Given the description of an element on the screen output the (x, y) to click on. 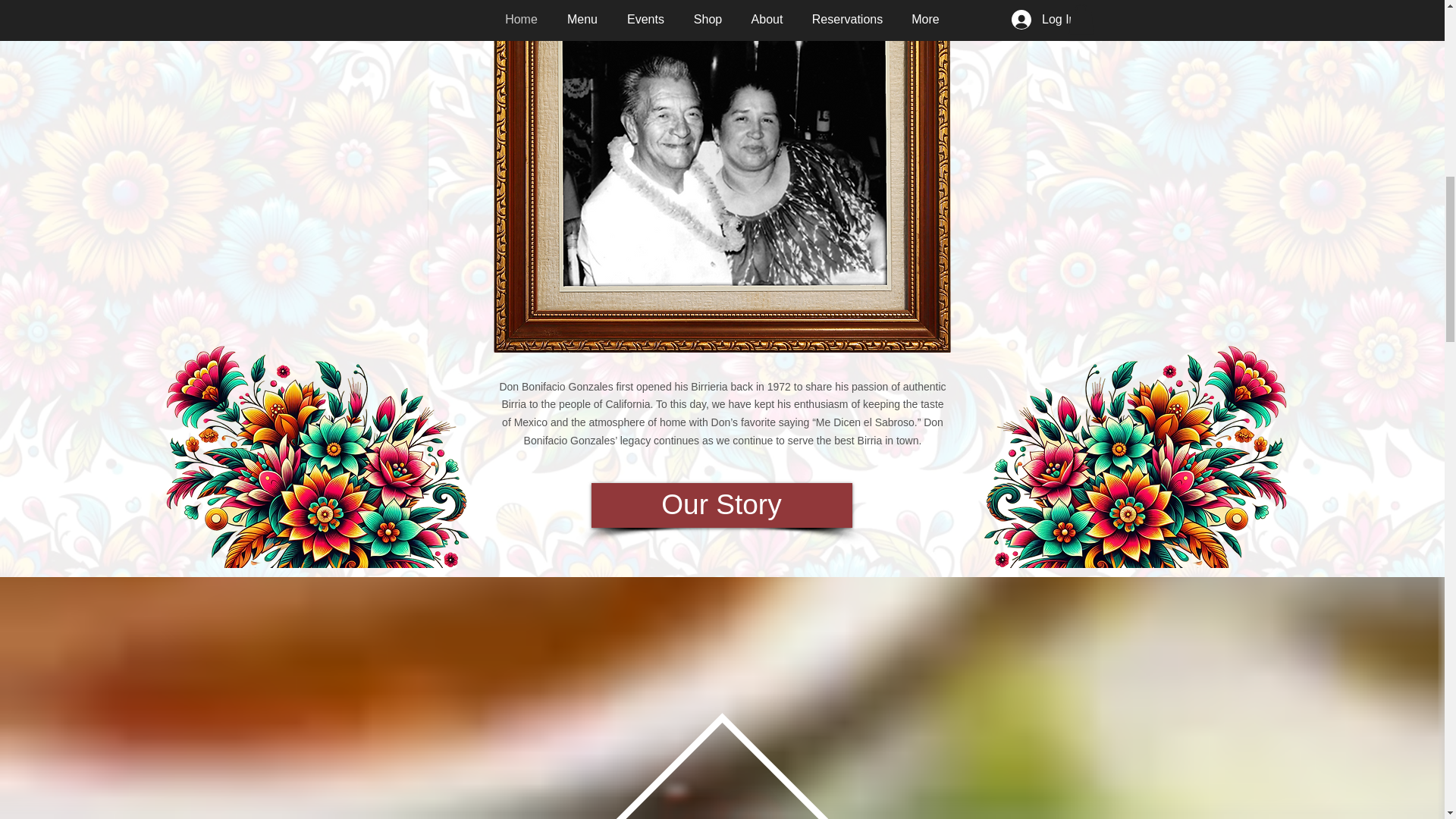
Our Story (721, 505)
